Given the description of an element on the screen output the (x, y) to click on. 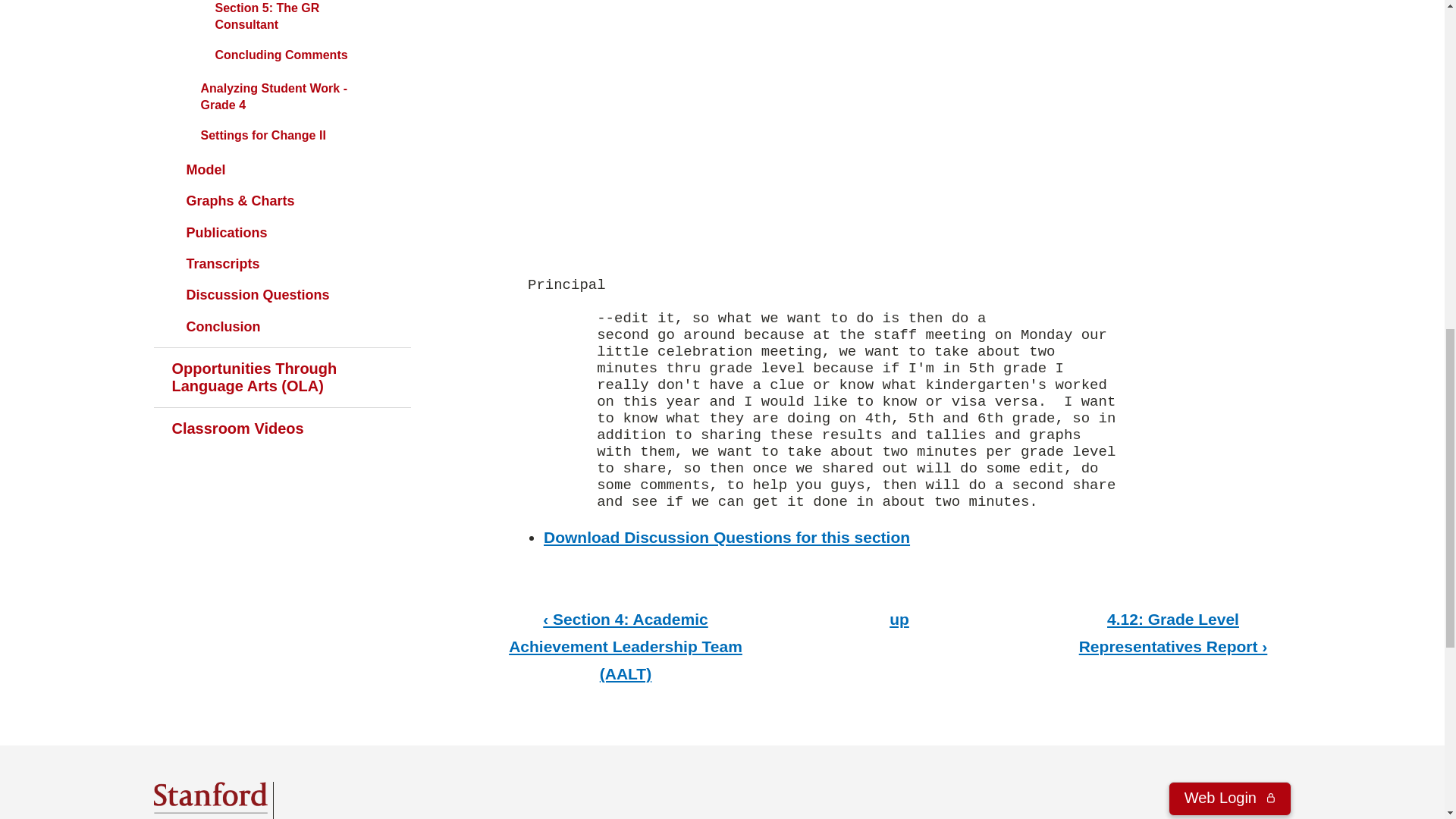
Go to next page (1173, 632)
Go to previous page (625, 645)
Go to parent page (898, 619)
